Given the description of an element on the screen output the (x, y) to click on. 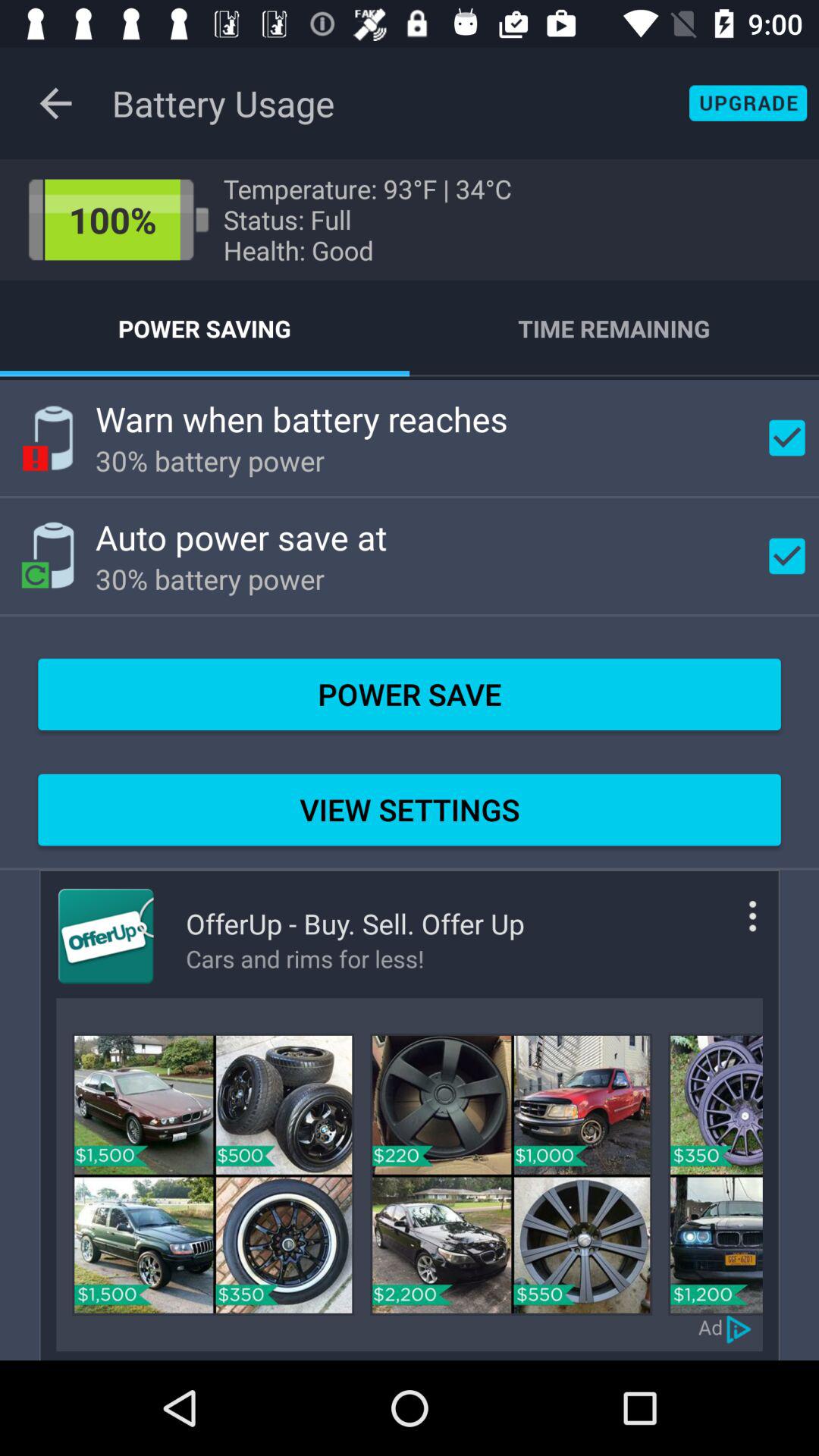
turn off the item at the bottom left corner (213, 1174)
